Given the description of an element on the screen output the (x, y) to click on. 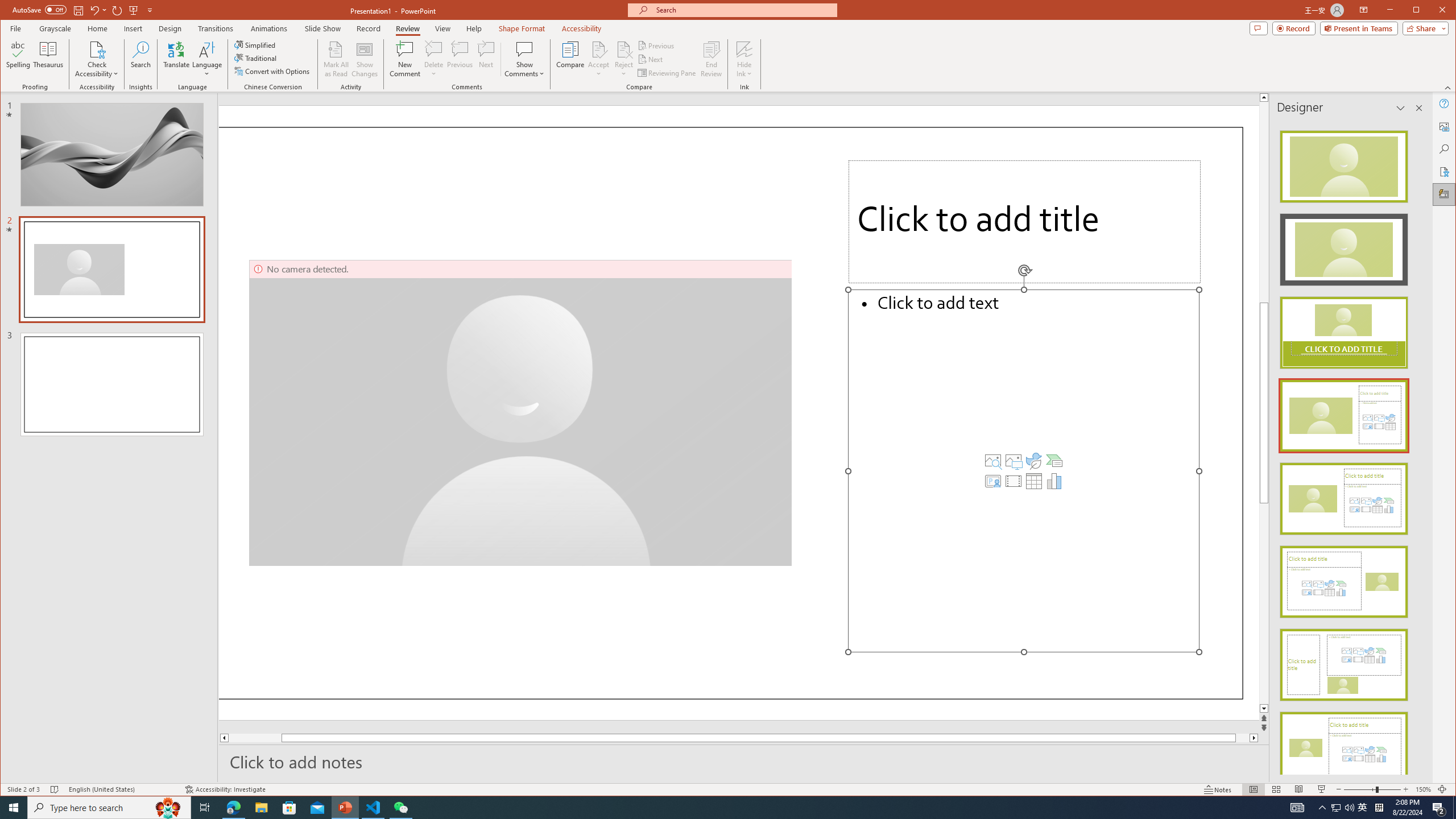
Insert Table (1033, 480)
WeChat - 1 running window (400, 807)
New Comment (405, 59)
Zoom 150% (1422, 789)
Compare (569, 59)
Simplified (255, 44)
